Given the description of an element on the screen output the (x, y) to click on. 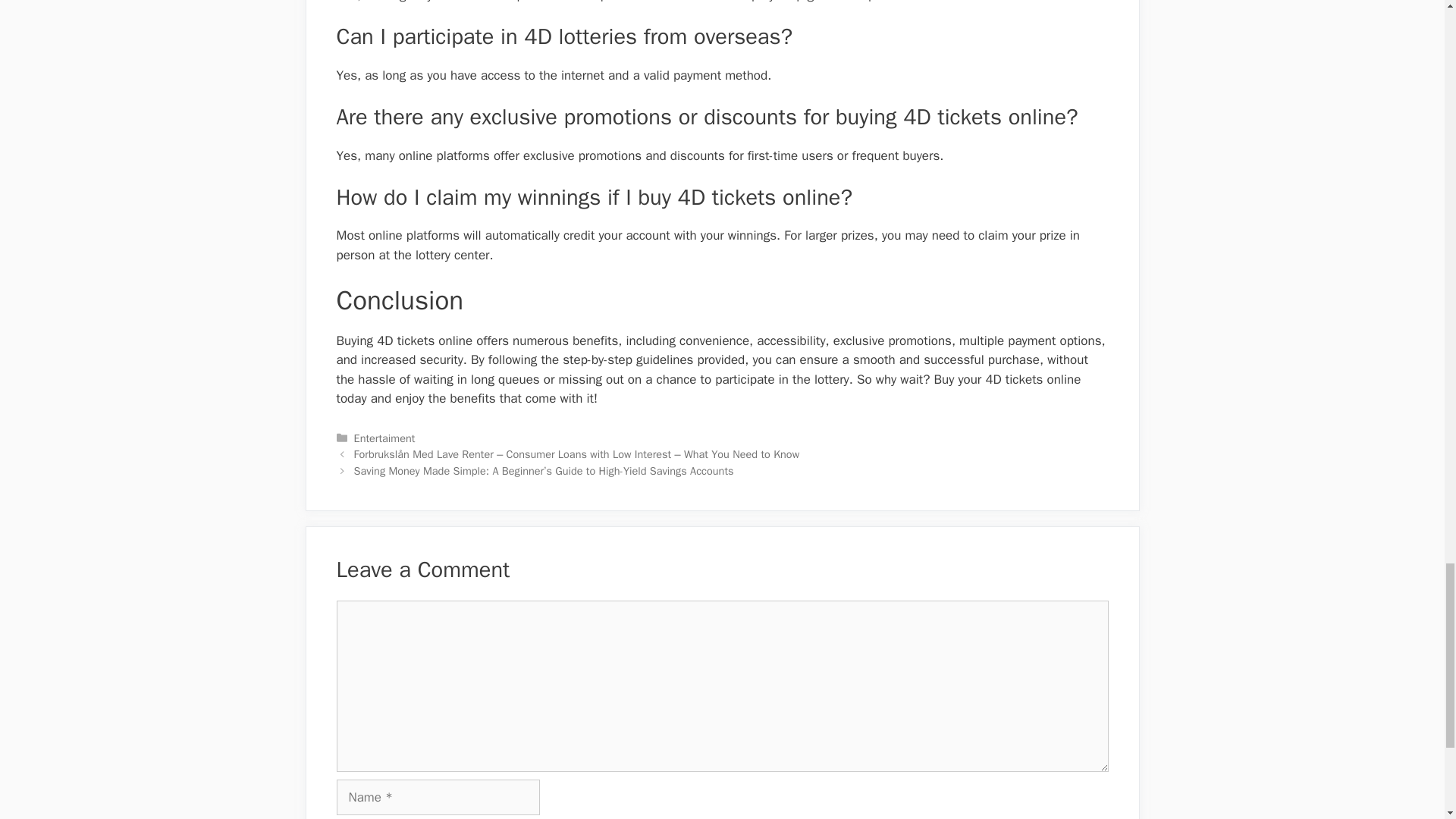
Entertaiment (383, 438)
